Given the description of an element on the screen output the (x, y) to click on. 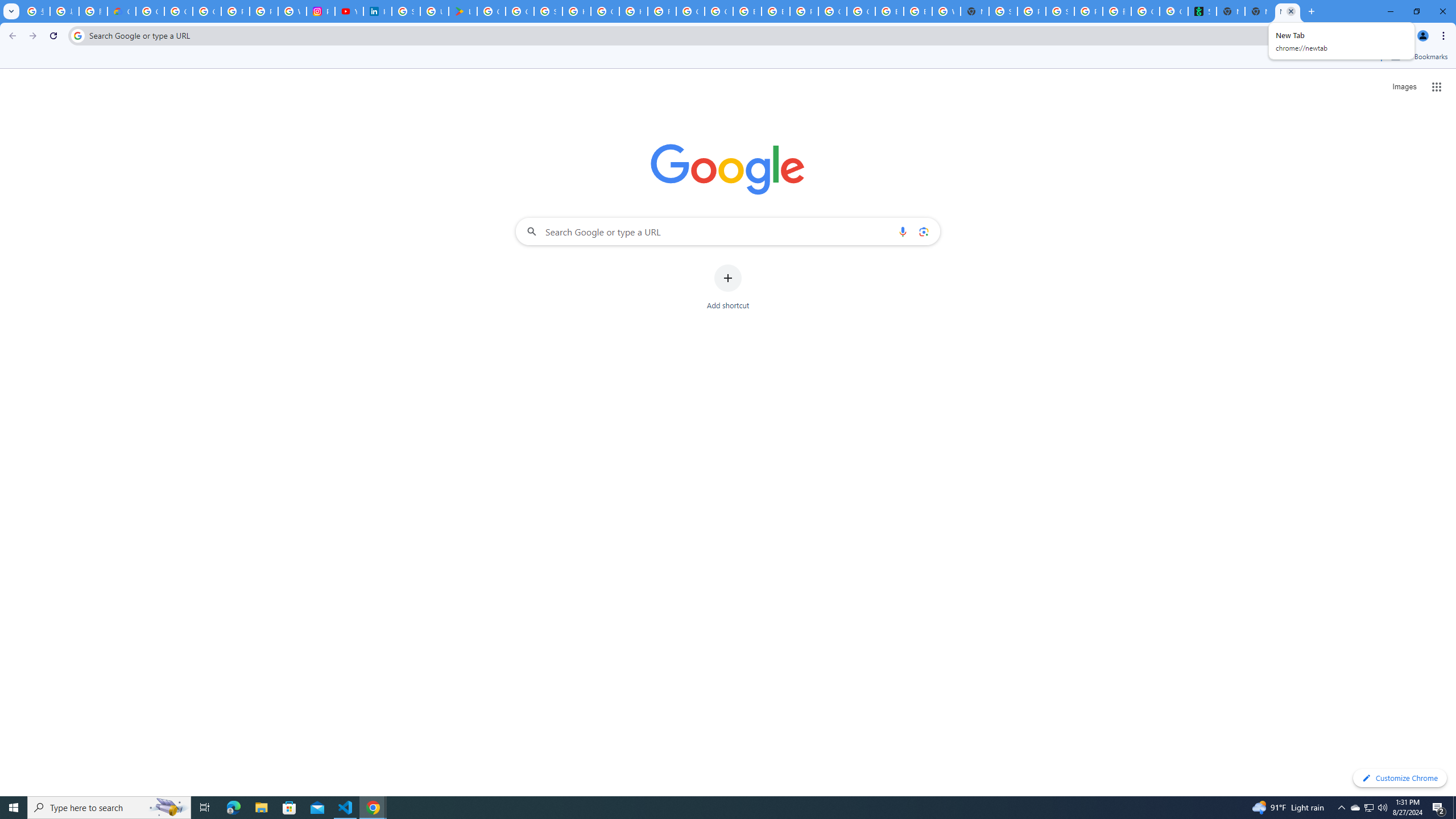
New Tab (1287, 11)
Google Cloud Platform (832, 11)
Bookmark this tab (1393, 35)
Add shortcut (727, 287)
Search icon (77, 35)
Browse Chrome as a guest - Computer - Google Chrome Help (747, 11)
System (6, 6)
YouTube Culture & Trends - On The Rise: Handcam Videos (349, 11)
Forward (32, 35)
